Given the description of an element on the screen output the (x, y) to click on. 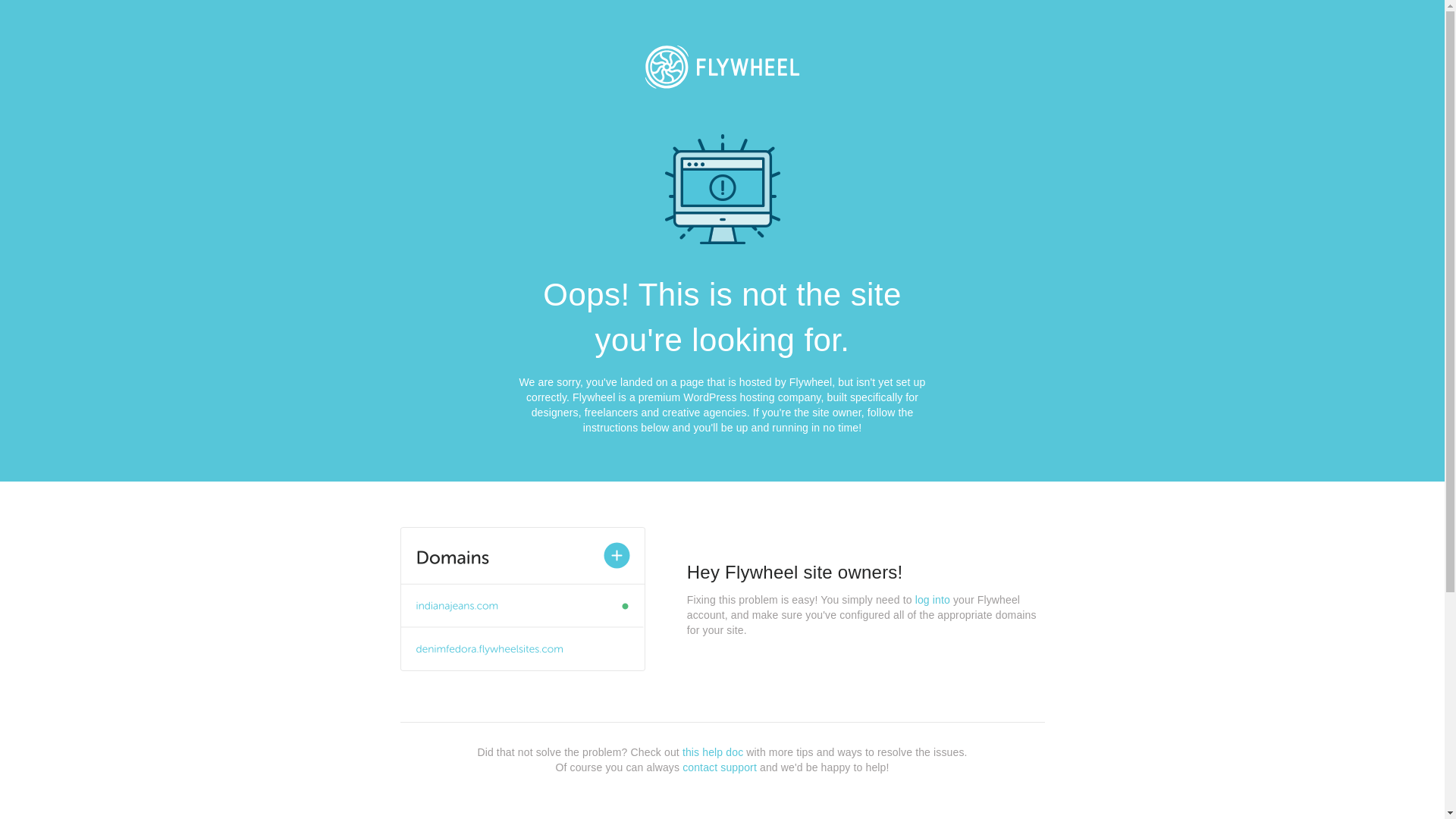
contact support (719, 767)
this help doc (712, 752)
log into (932, 599)
